Given the description of an element on the screen output the (x, y) to click on. 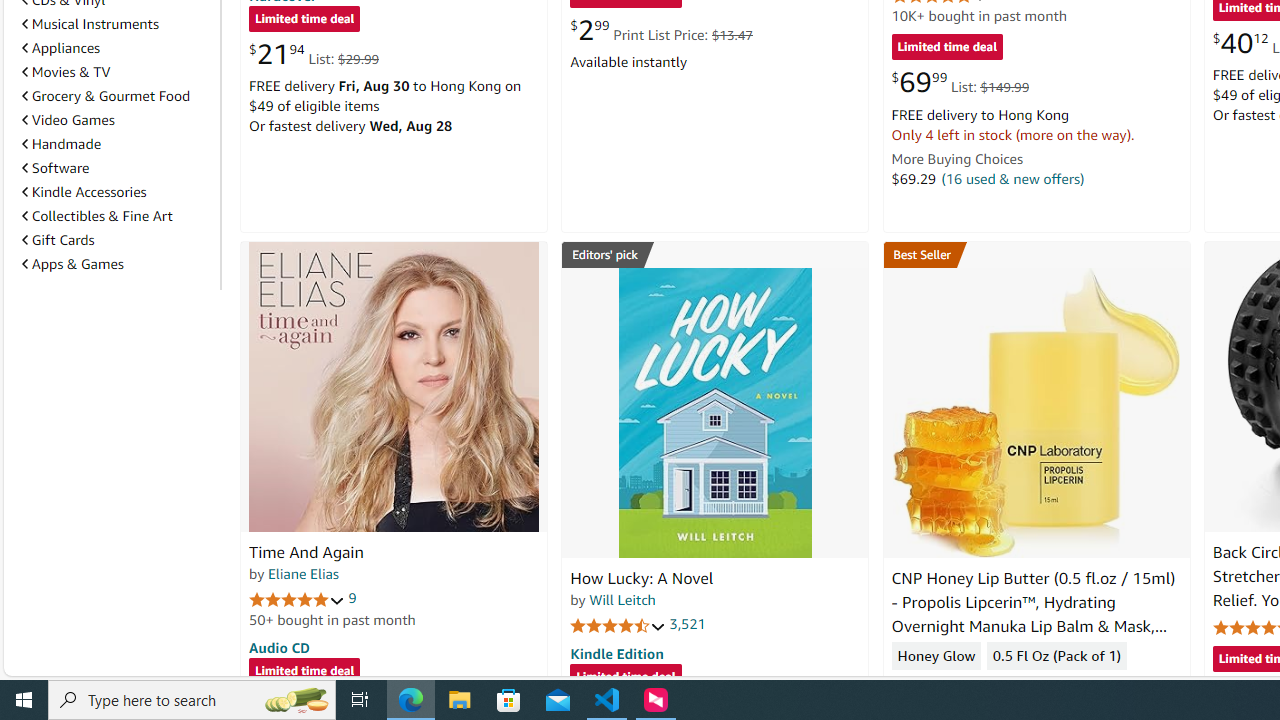
Eliane Elias (303, 573)
9 (352, 597)
Collectibles & Fine Art (117, 215)
5.0 out of 5 stars (297, 598)
Kindle Accessories (84, 191)
Editors' pick Best Mystery, Thriller & Suspense (715, 254)
Will Leitch (621, 599)
How Lucky: A Novel (641, 578)
Grocery & Gourmet Food (105, 96)
Video Games (117, 120)
Software (117, 167)
Movies & TV (66, 71)
Best Seller in Lip Butters (1036, 254)
Musical Instruments (117, 23)
